Given the description of an element on the screen output the (x, y) to click on. 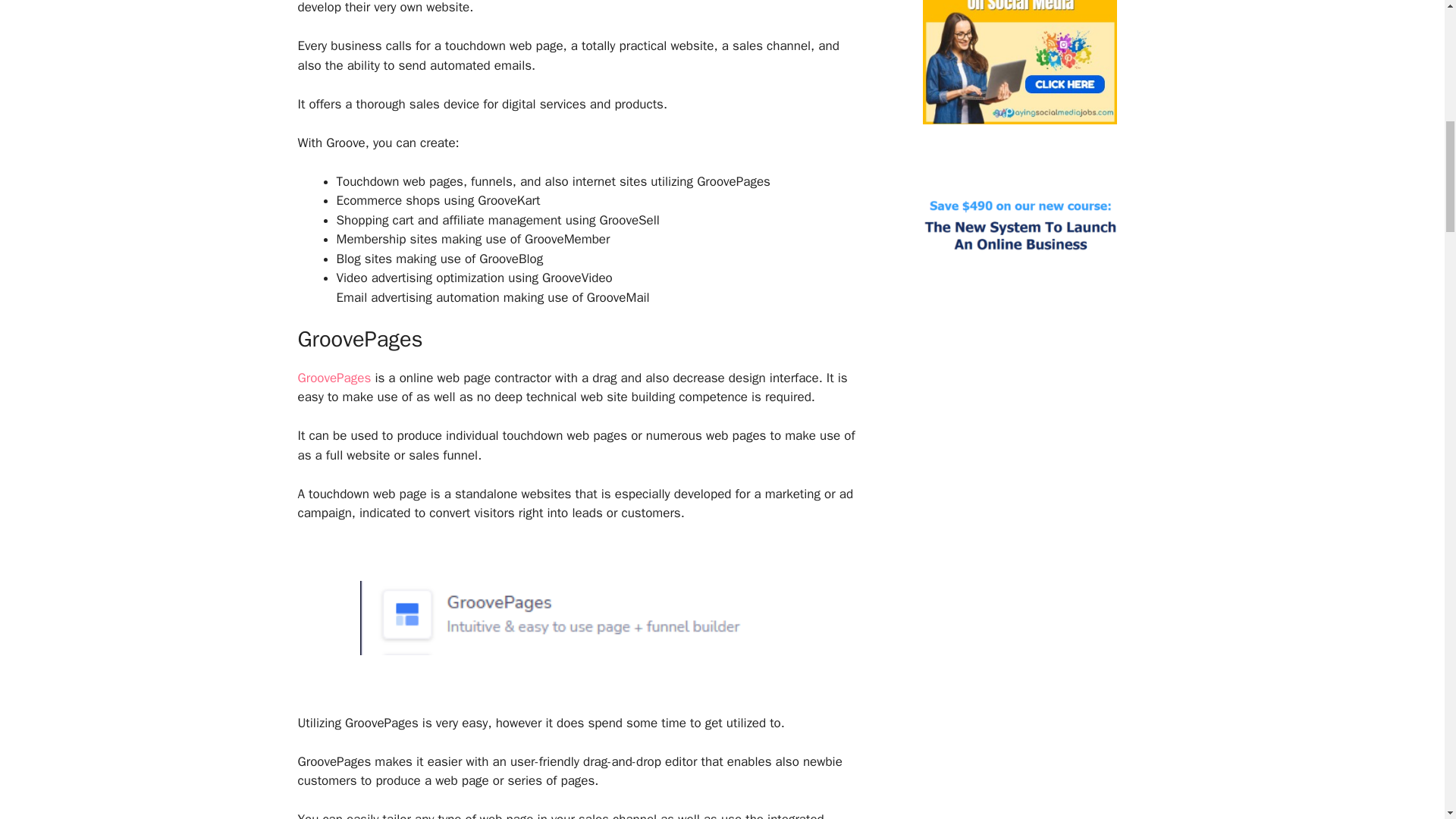
GroovePages (334, 377)
